Given the description of an element on the screen output the (x, y) to click on. 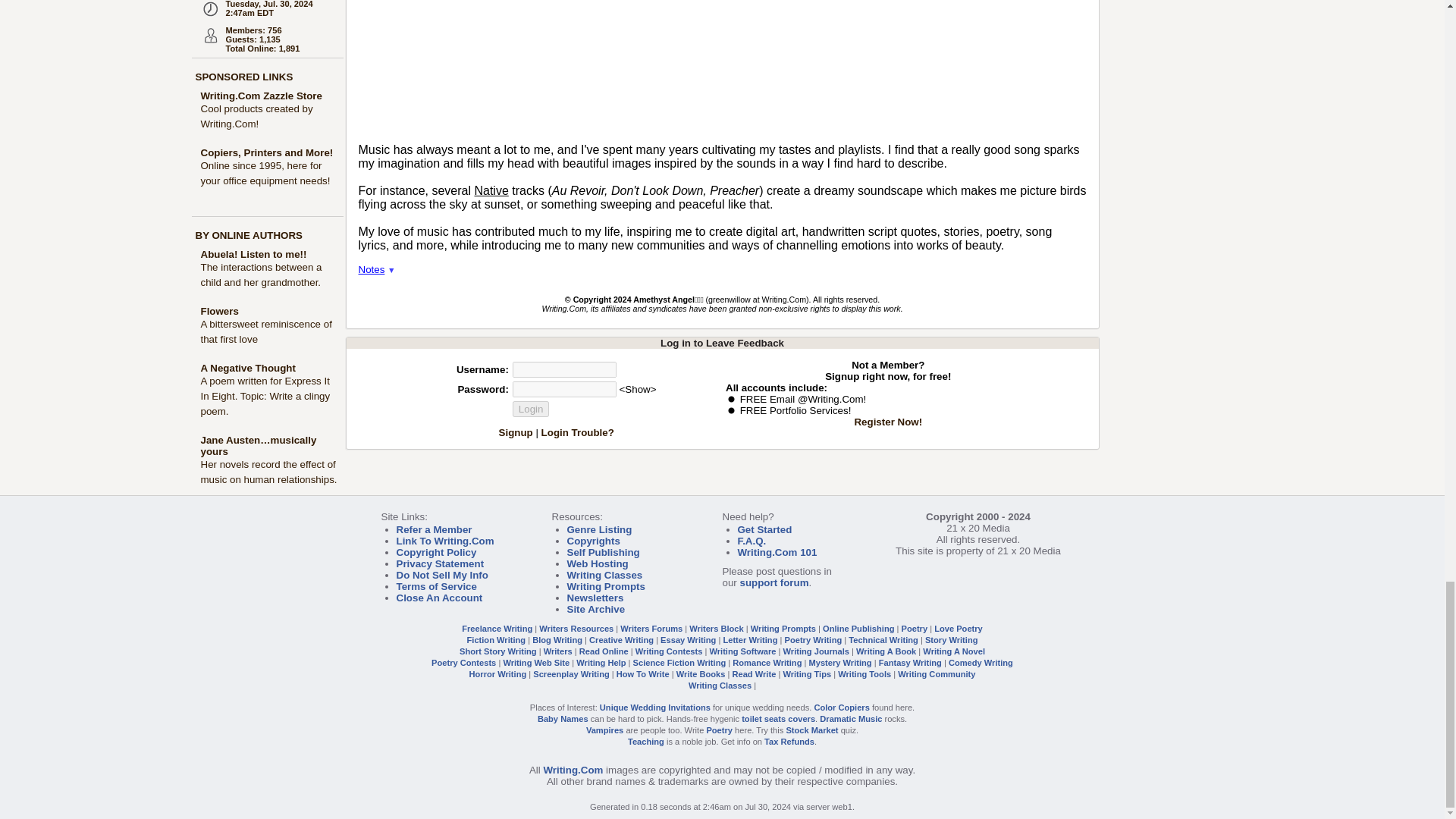
Login (531, 408)
